Given the description of an element on the screen output the (x, y) to click on. 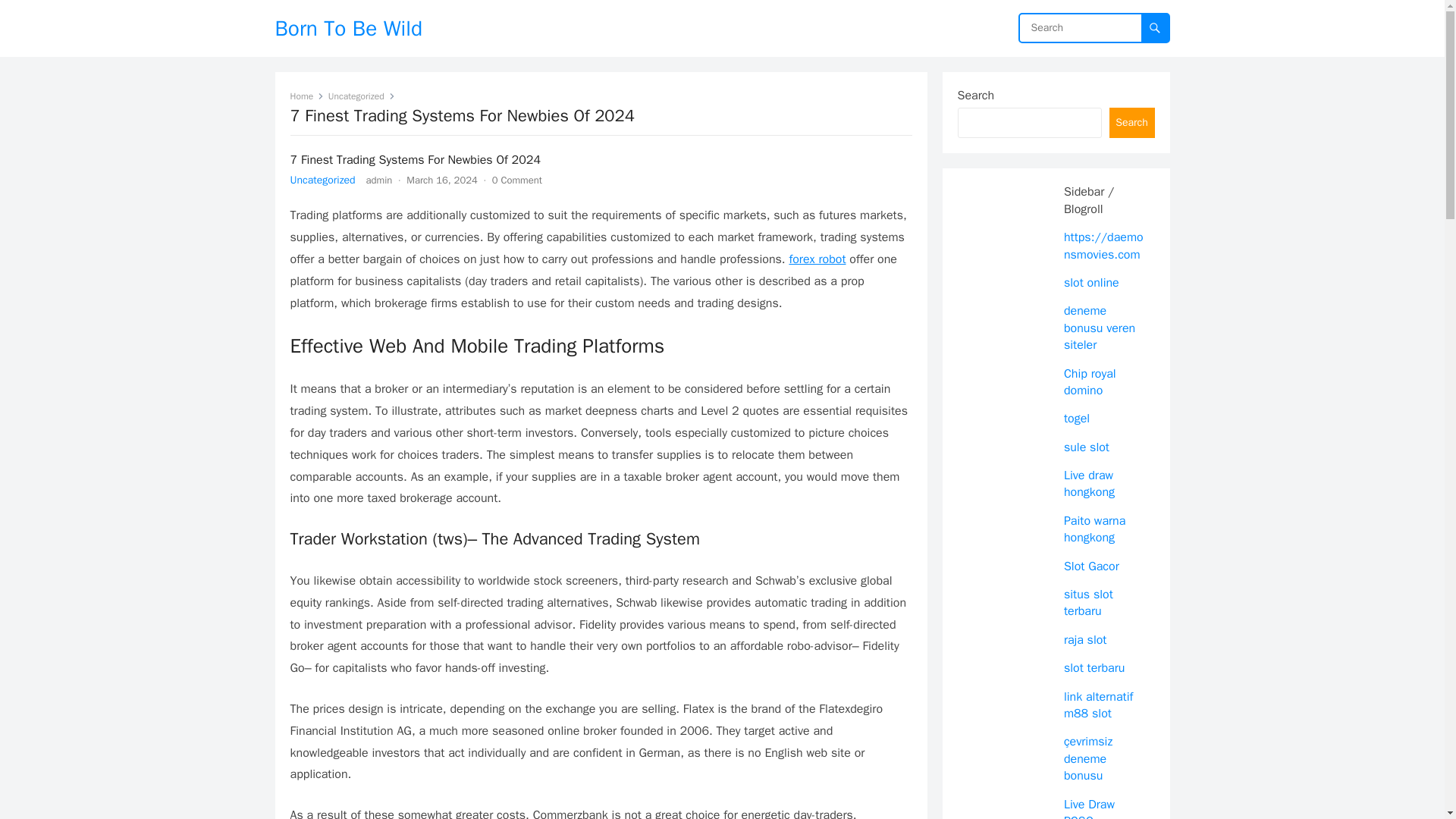
Posts by admin (379, 179)
Uncategorized (322, 179)
Home (306, 96)
Uncategorized (361, 96)
forex robot (817, 258)
0 Comment (516, 179)
admin (379, 179)
Born To Be Wild (348, 28)
